Given the description of an element on the screen output the (x, y) to click on. 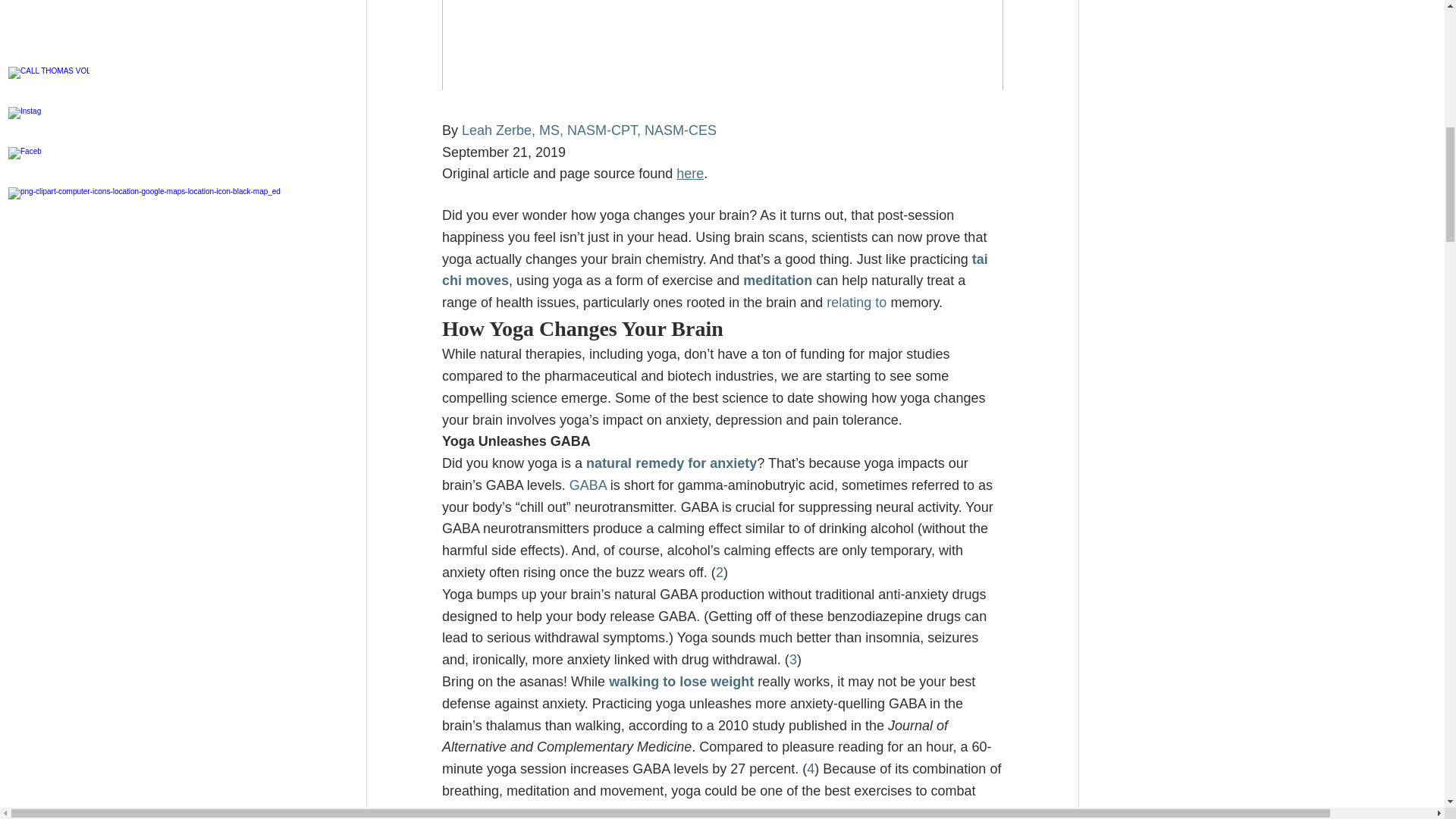
Leah Zerbe, MS, NASM-CPT, NASM-CES (588, 130)
relating to (856, 302)
walking to lose weight (681, 681)
GABA (587, 485)
meditation (777, 280)
natural (608, 462)
here (690, 173)
tai chi moves (716, 270)
 remedy for anxiety (694, 462)
